Given the description of an element on the screen output the (x, y) to click on. 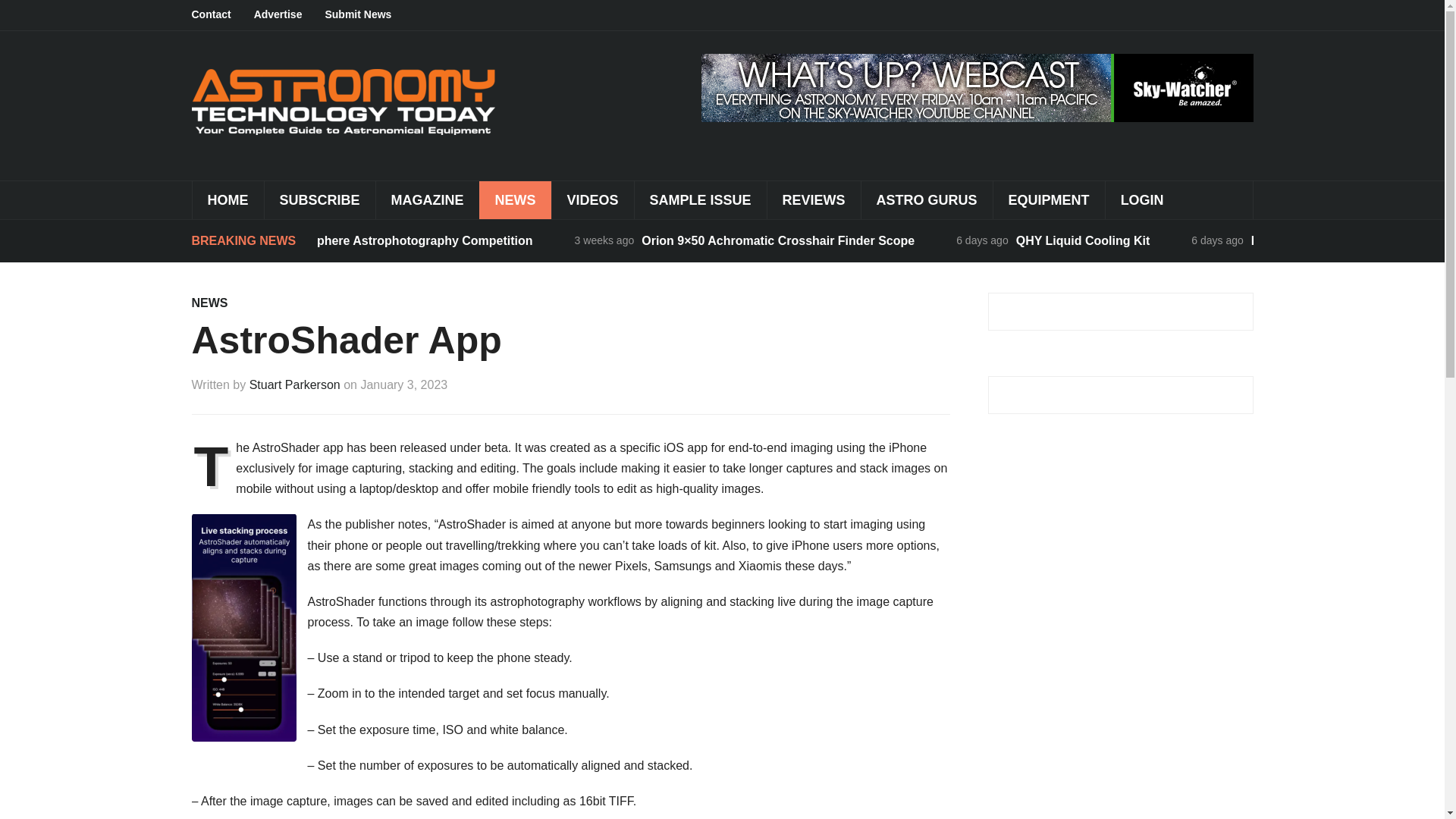
NEWS (515, 200)
QHY Liquid Cooling Kit (1083, 240)
NEWS (208, 302)
SAMPLE ISSUE (700, 200)
Southern Hemisphere Astrophotography Competition (378, 240)
VIDEOS (592, 200)
Submit News (368, 15)
LOGIN (1142, 200)
EQUIPMENT (1048, 200)
Southern Hemisphere Astrophotography Competition (378, 240)
Advertise (288, 15)
SUBSCRIBE (319, 200)
Stuart Parkerson (294, 384)
QHY Liquid Cooling Kit (1083, 240)
ASTRO GURUS (926, 200)
